Given the description of an element on the screen output the (x, y) to click on. 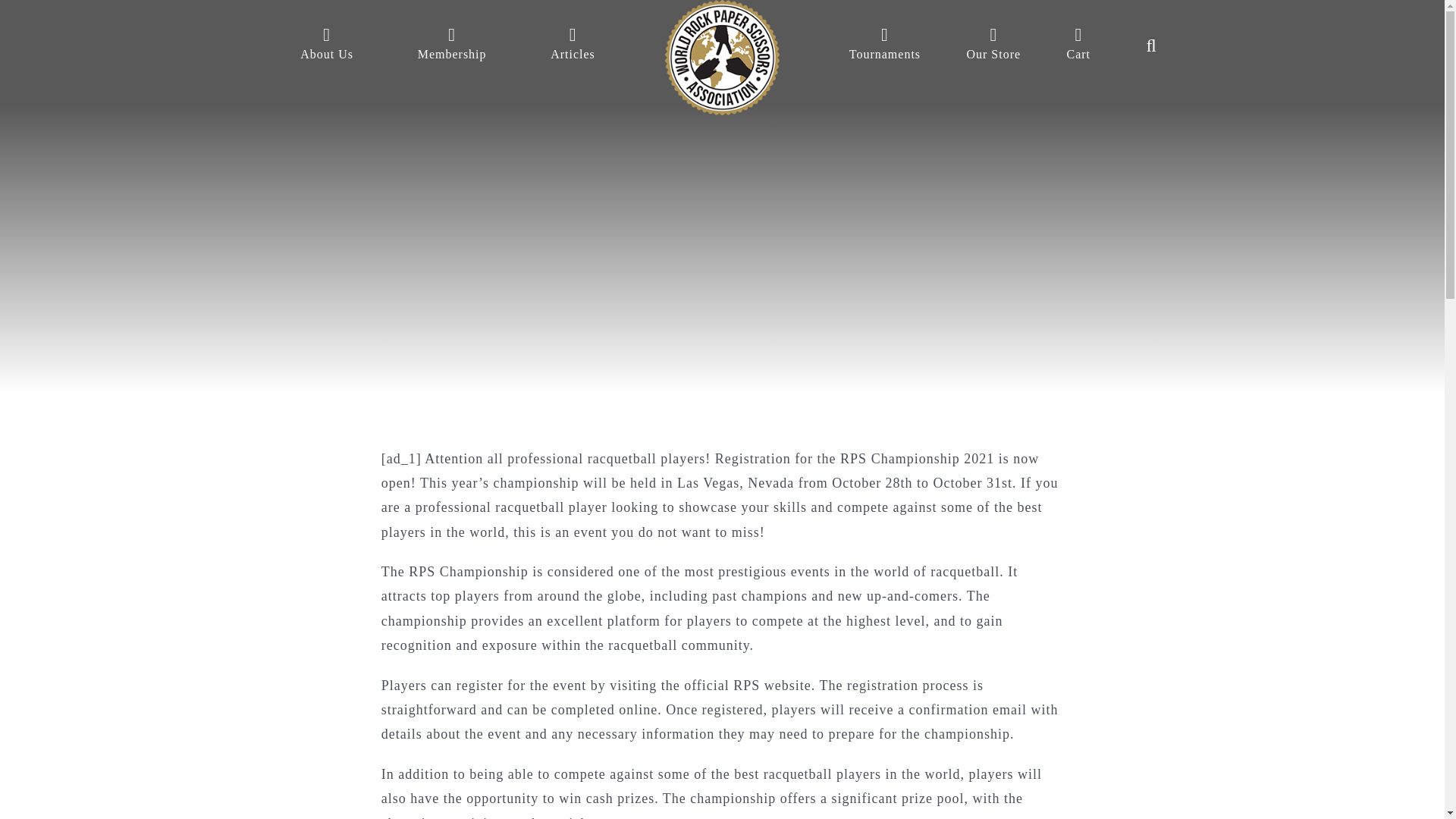
Articles (572, 45)
Cart (1078, 45)
Membership (451, 45)
Our Store (993, 45)
About Us (326, 45)
Tournaments (884, 45)
